Given the description of an element on the screen output the (x, y) to click on. 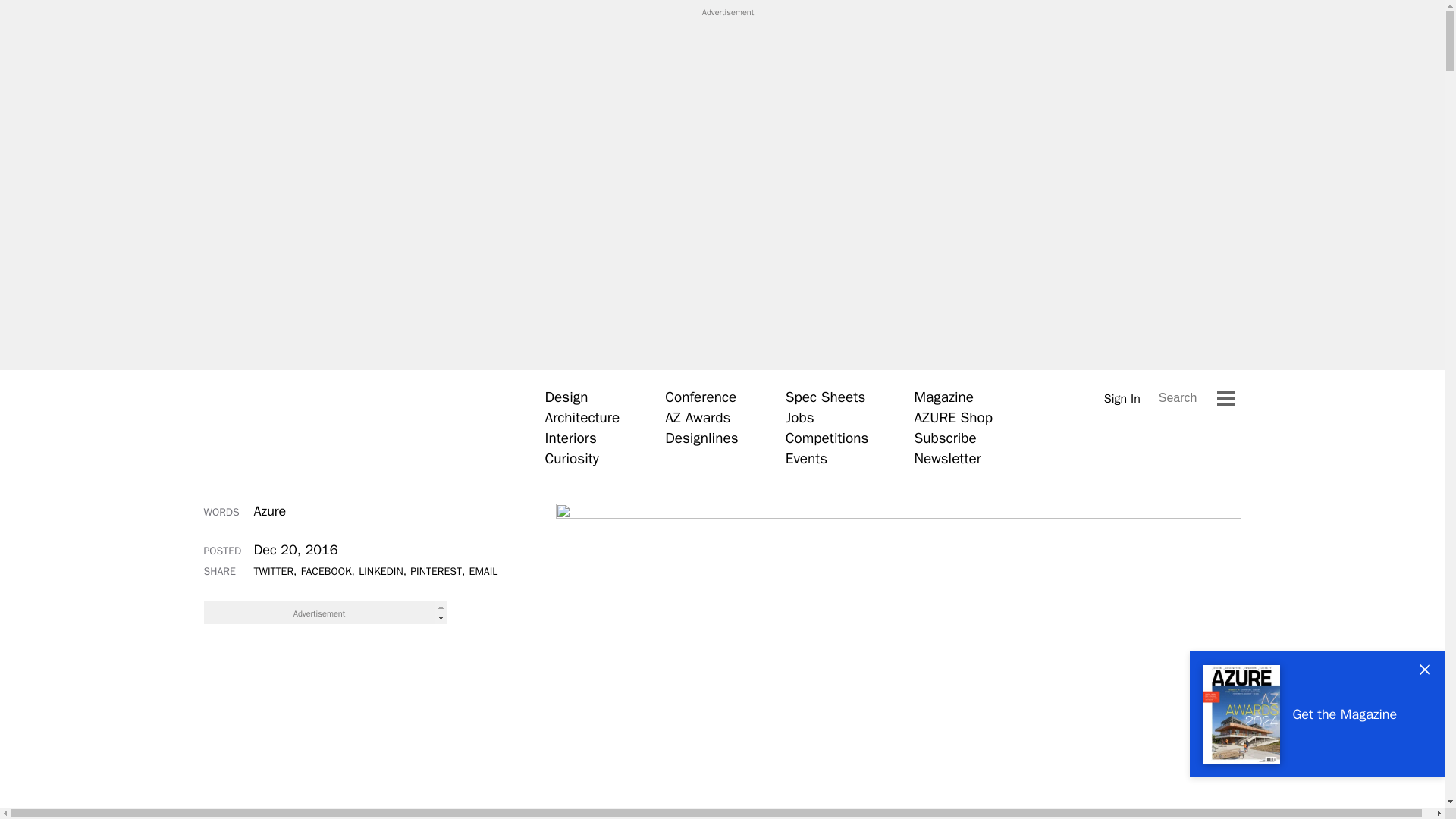
Designlines (701, 438)
Jobs (799, 417)
Magazine (944, 397)
Azure Magazine (351, 426)
Newsletter (946, 458)
Conference (700, 397)
Architecture (582, 417)
Interiors (569, 438)
AZ Awards (697, 417)
Subscribe (944, 438)
